Given the description of an element on the screen output the (x, y) to click on. 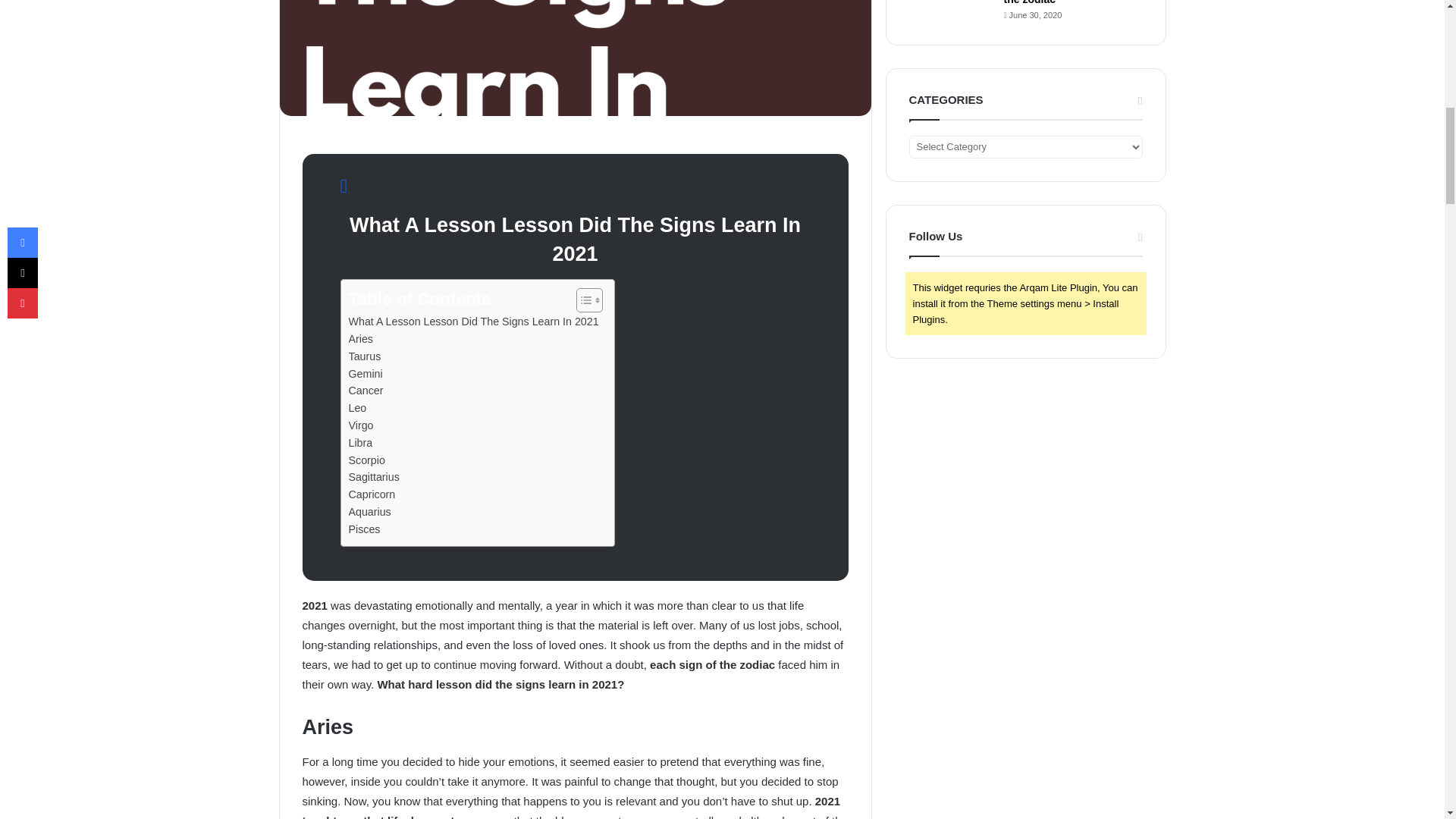
Libra (360, 443)
Gemini (365, 374)
Virgo (361, 425)
Taurus (365, 356)
What A Lesson Lesson Did The Signs Learn In 2021 (473, 321)
Cancer (366, 390)
Leo (357, 407)
Aries (360, 339)
